Given the description of an element on the screen output the (x, y) to click on. 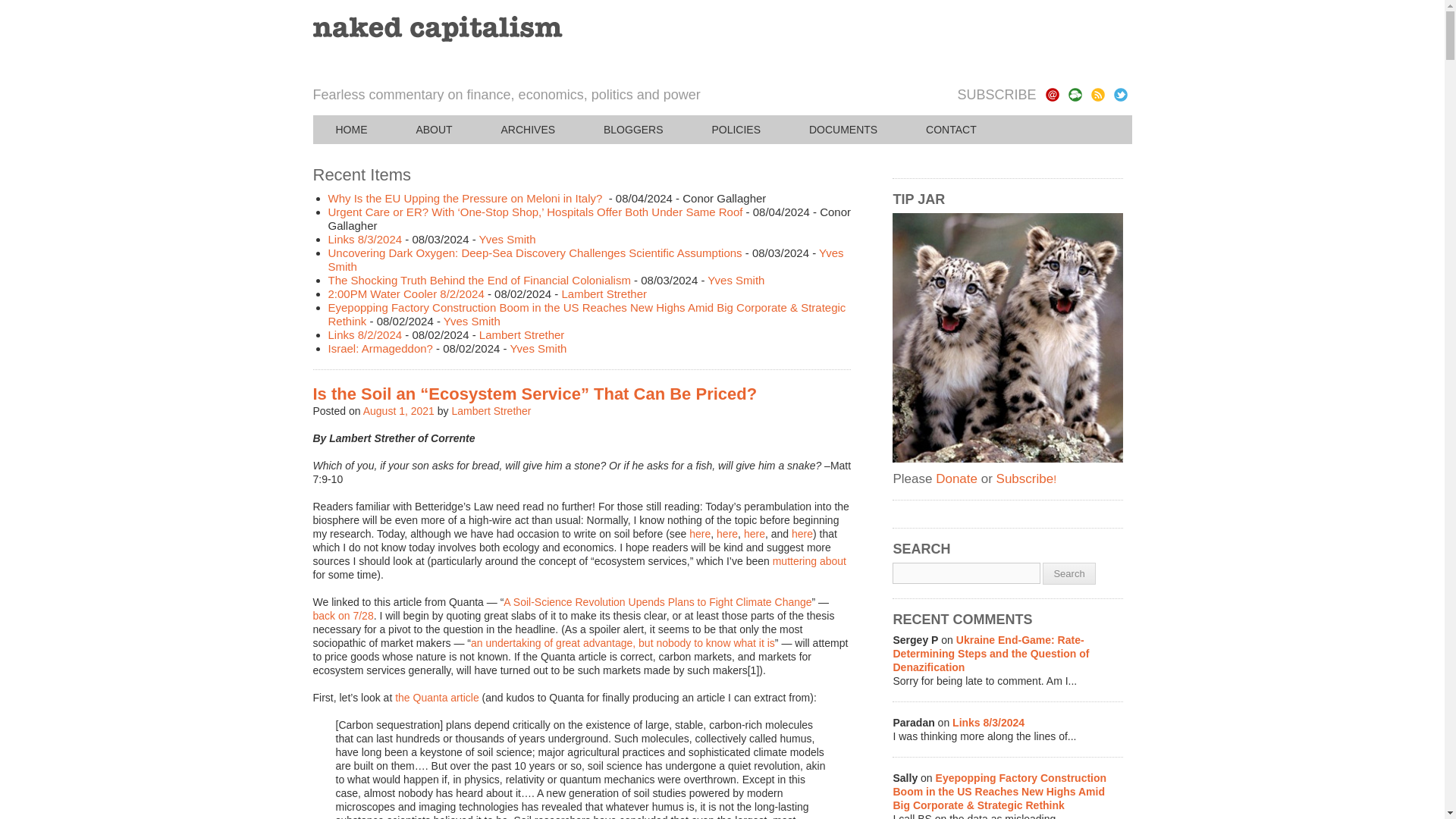
RSS Feed for Comments (1074, 94)
POLICIES (735, 129)
Search (1068, 573)
HOME (351, 129)
naked capitalism (437, 28)
Feedburner RSS Feed (1096, 94)
Subscribe to comments via RSS feed (1074, 94)
ABOUT (433, 129)
The Shocking Truth Behind the End of Financial Colonialism (478, 279)
Yves Smith (507, 238)
Yves Smith (735, 279)
Lambert Strether (603, 293)
Follow yvessmith on Twitter (1119, 94)
Lambert Strether (521, 334)
Lambert Strether (491, 410)
